Given the description of an element on the screen output the (x, y) to click on. 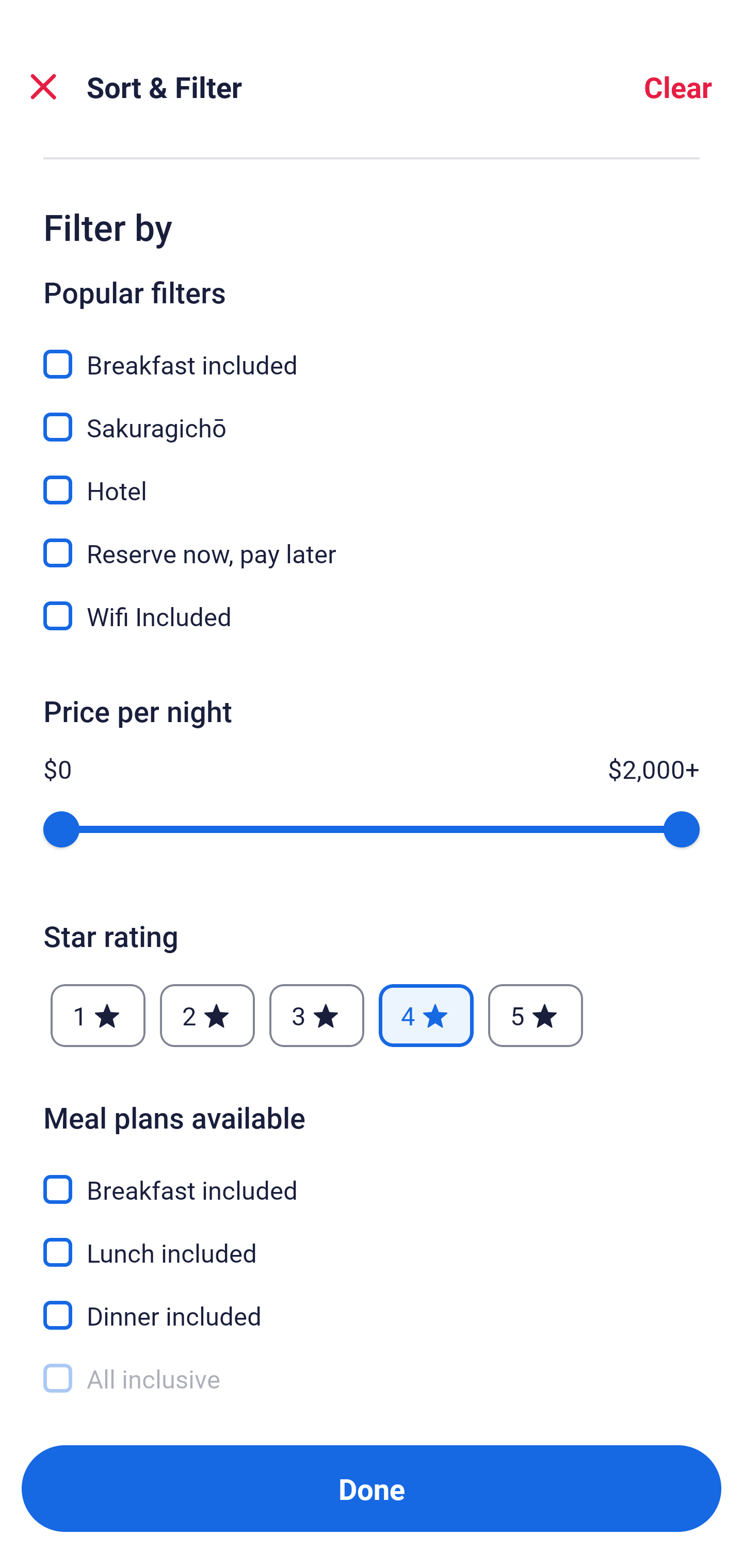
Close Sort and Filter (43, 86)
Clear (677, 86)
Breakfast included, Breakfast included (371, 352)
Sakuragichō, Sakuragichō (371, 415)
Hotel, Hotel (371, 477)
Reserve now, pay later, Reserve now, pay later (371, 540)
Wifi Included, Wifi Included (371, 616)
1 (97, 1015)
2 (206, 1015)
3 (316, 1015)
4 (426, 1015)
5 (535, 1015)
Breakfast included, Breakfast included (371, 1177)
Lunch included, Lunch included (371, 1240)
Dinner included, Dinner included (371, 1304)
All inclusive, All inclusive (371, 1378)
Apply and close Sort and Filter Done (371, 1488)
